Given the description of an element on the screen output the (x, y) to click on. 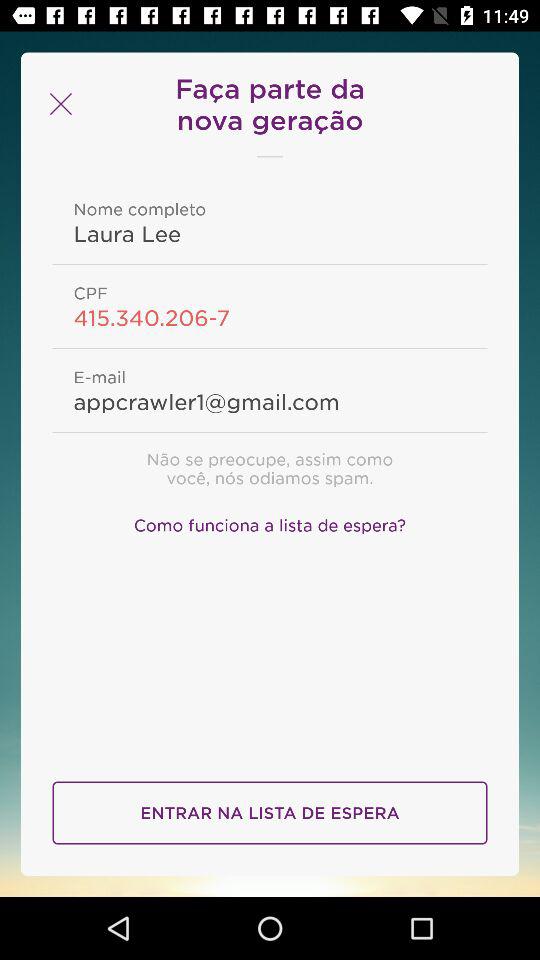
select laura lee item (269, 233)
